Given the description of an element on the screen output the (x, y) to click on. 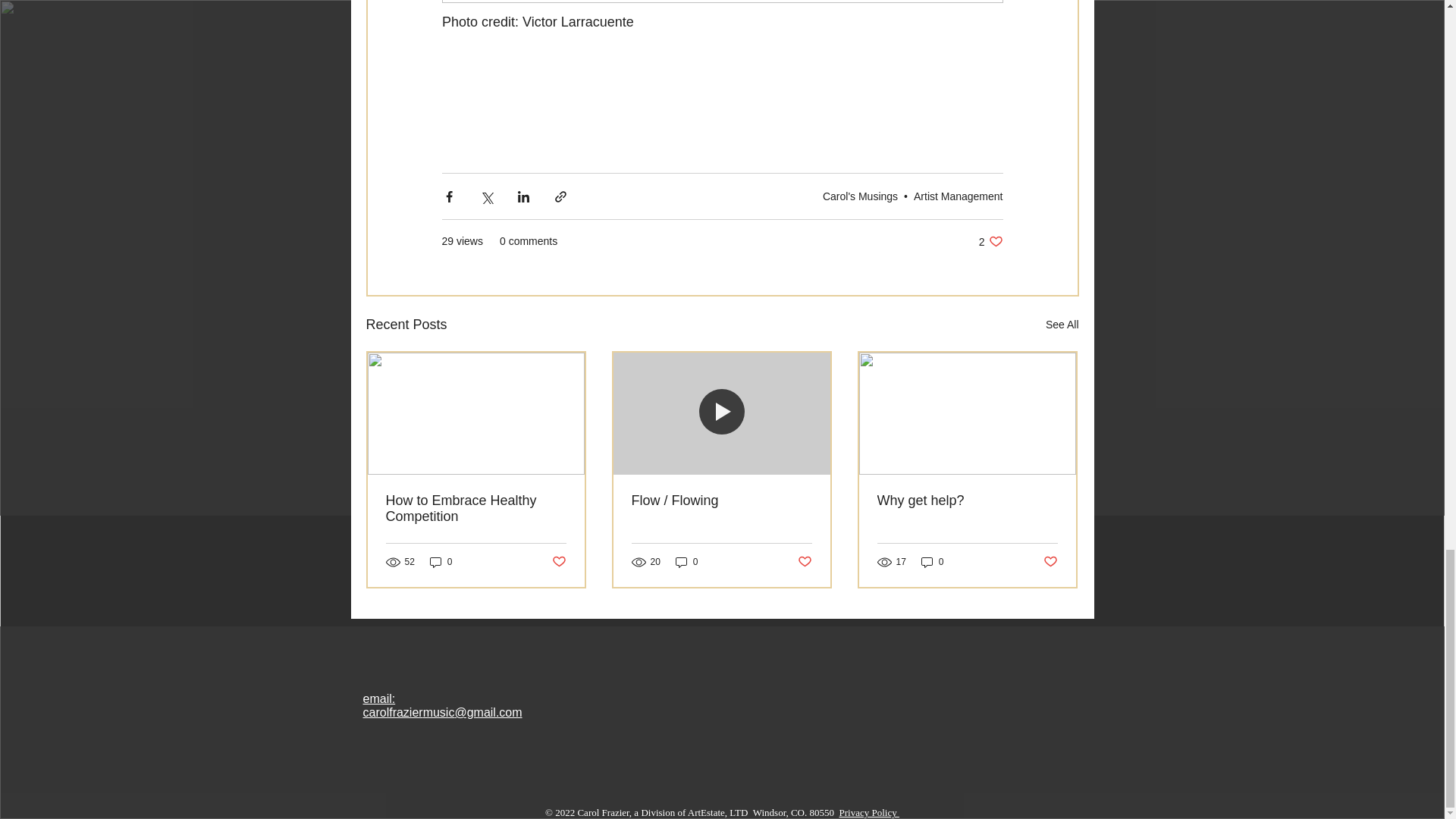
Artist Management (958, 196)
Why get help? (966, 500)
Post not marked as liked (558, 562)
0 (932, 562)
email: carolfrazier (392, 705)
How to Embrace Healthy Competition (475, 508)
music (438, 712)
Carol's Musings (860, 196)
0 (687, 562)
Post not marked as liked (804, 562)
